Given the description of an element on the screen output the (x, y) to click on. 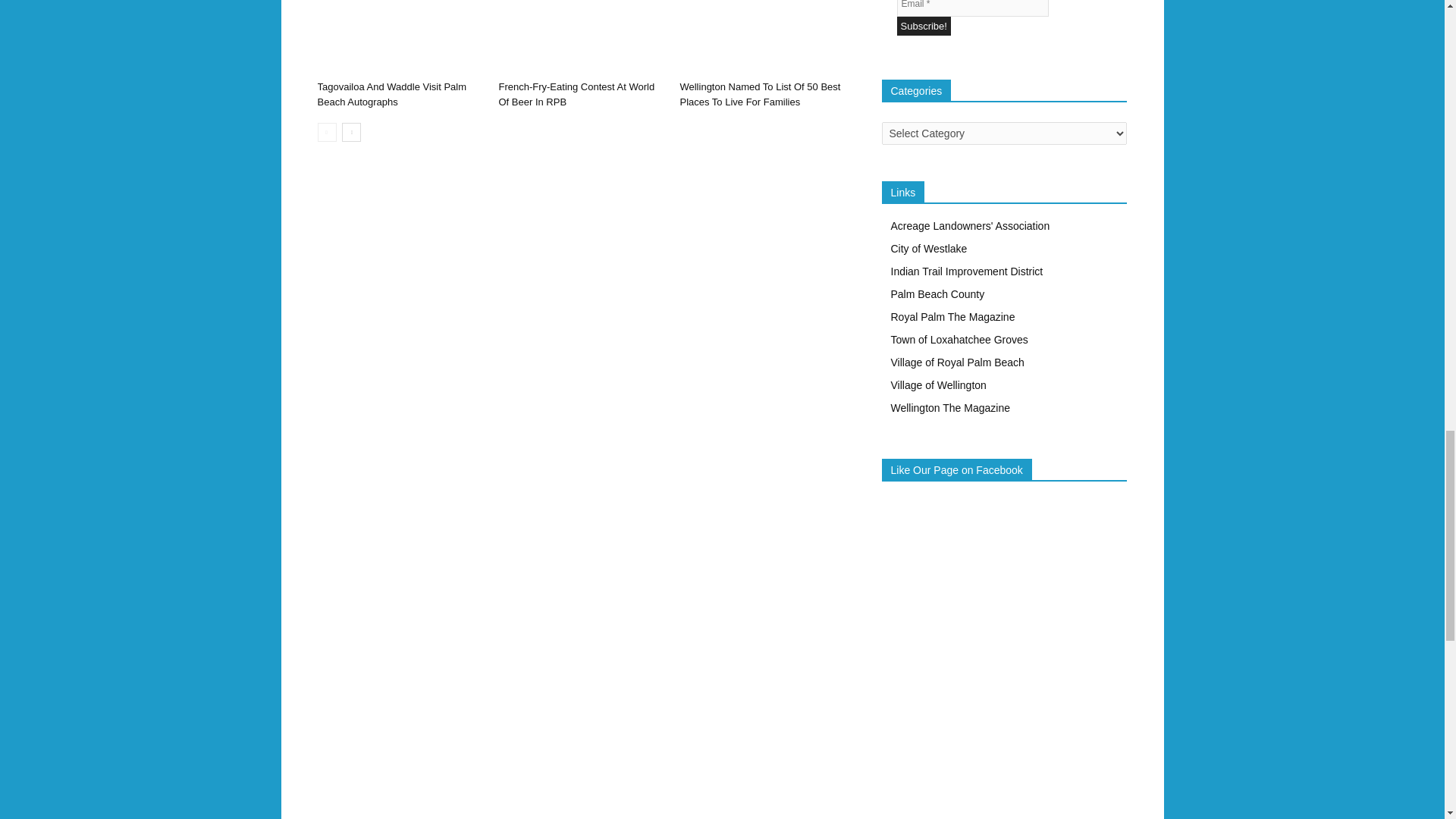
Subscribe! (923, 26)
